Given the description of an element on the screen output the (x, y) to click on. 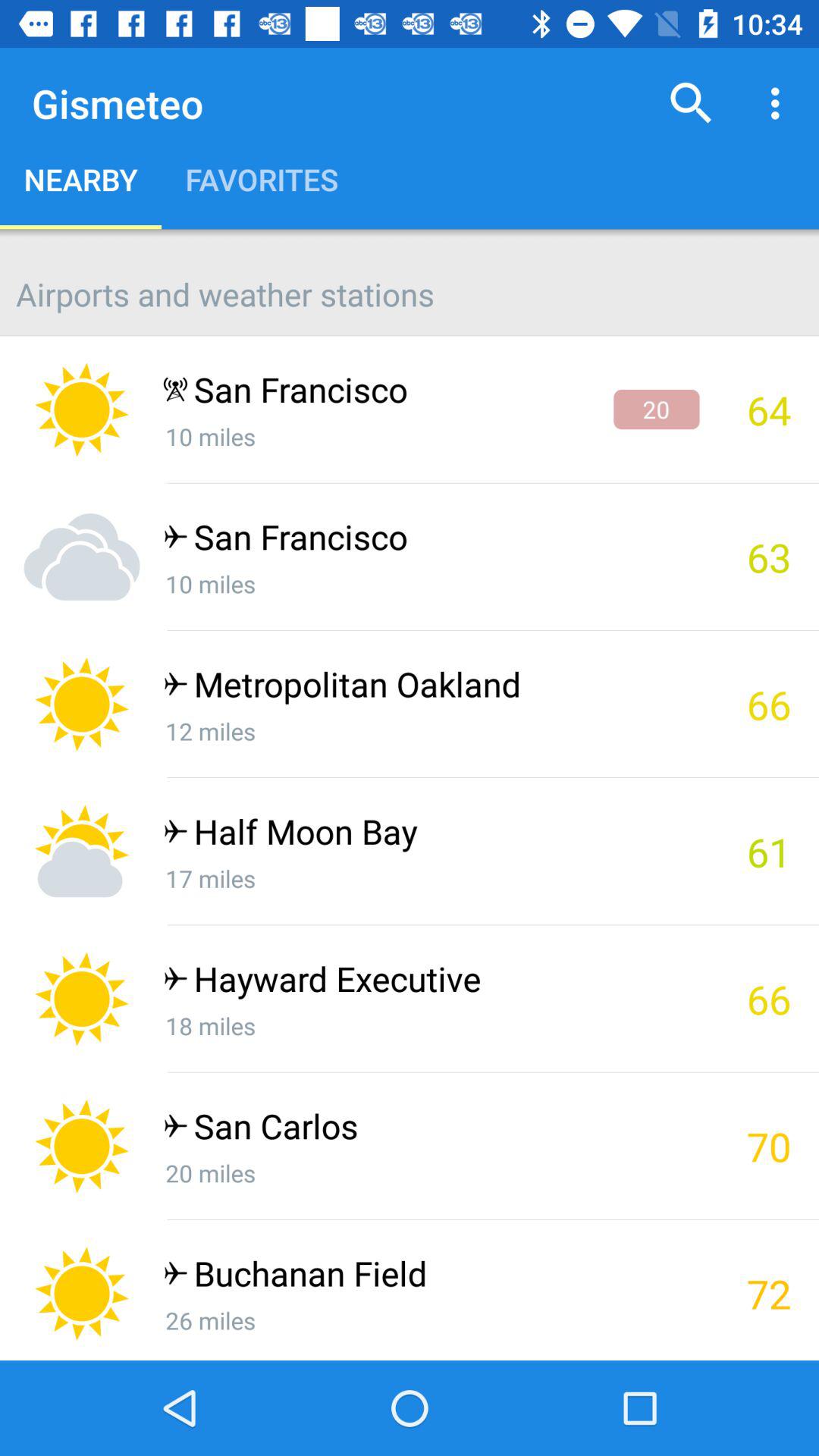
turn on item above 17 miles item (431, 835)
